Given the description of an element on the screen output the (x, y) to click on. 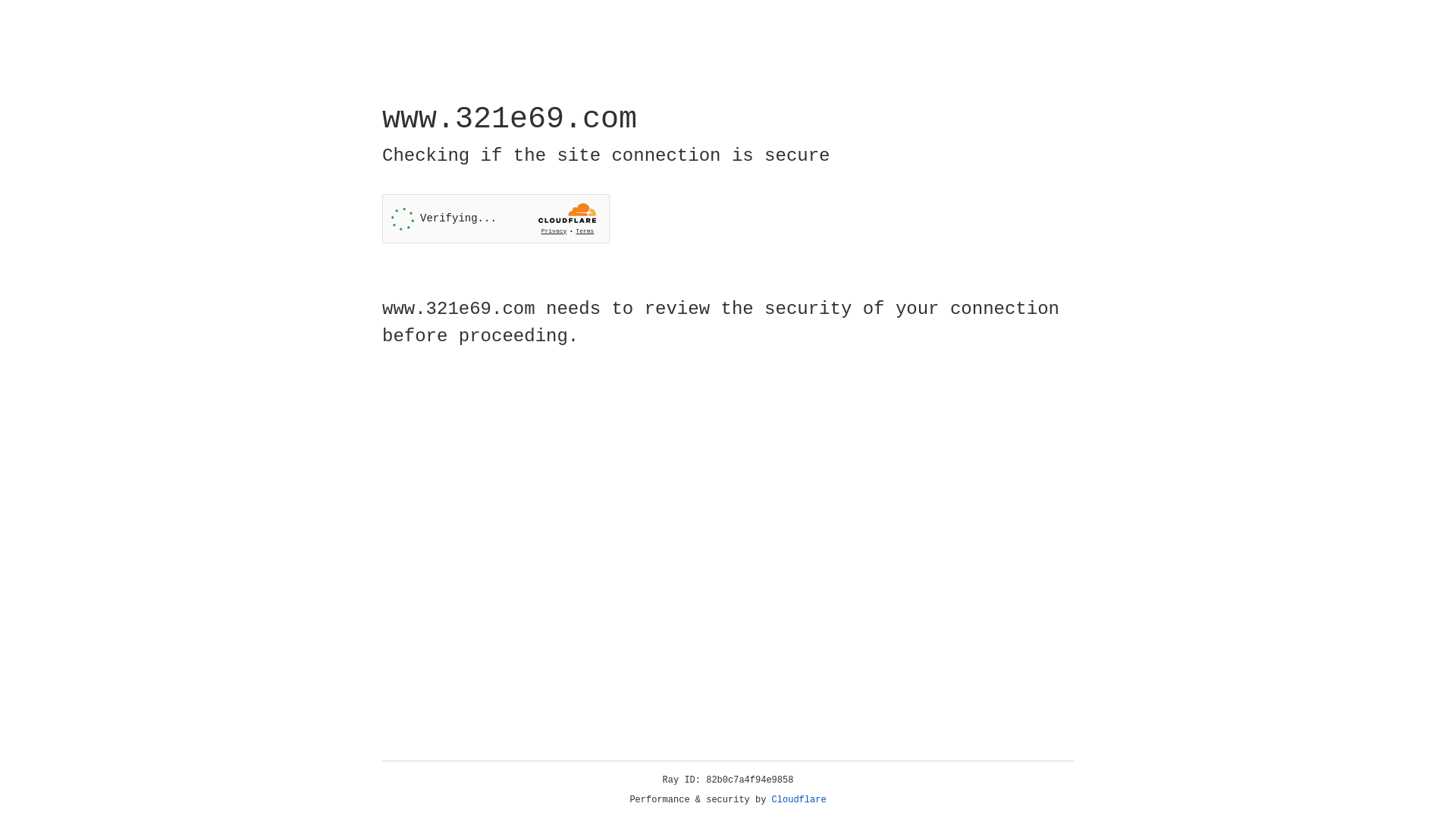
Cloudflare Element type: text (798, 799)
Widget containing a Cloudflare security challenge Element type: hover (495, 218)
